Given the description of an element on the screen output the (x, y) to click on. 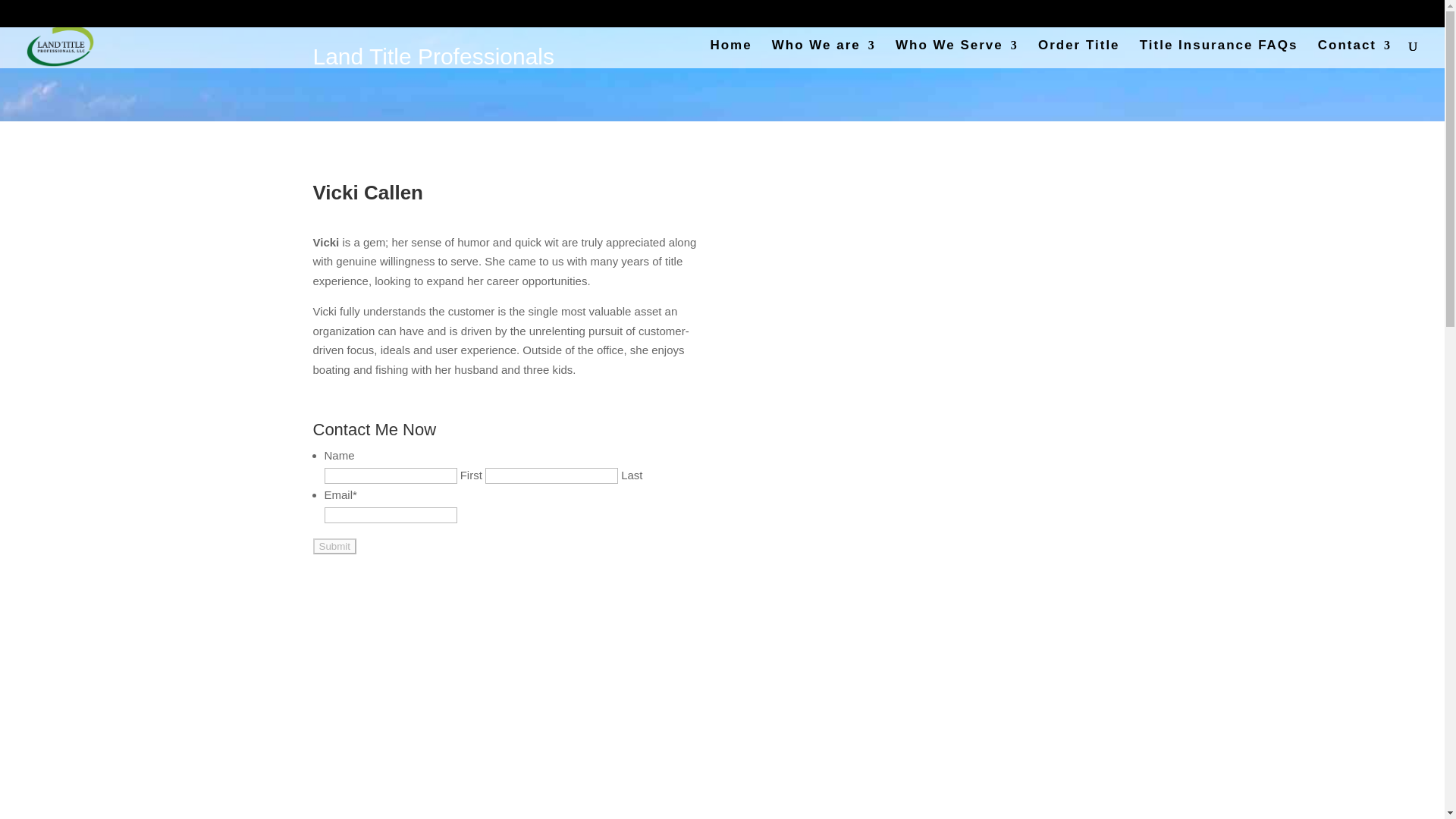
Title Insurance FAQs (1219, 53)
Submit (334, 546)
Who We Serve (956, 53)
Contact (1354, 53)
Home (730, 53)
Submit (334, 546)
Who We are (823, 53)
Order Title (1078, 53)
